Given the description of an element on the screen output the (x, y) to click on. 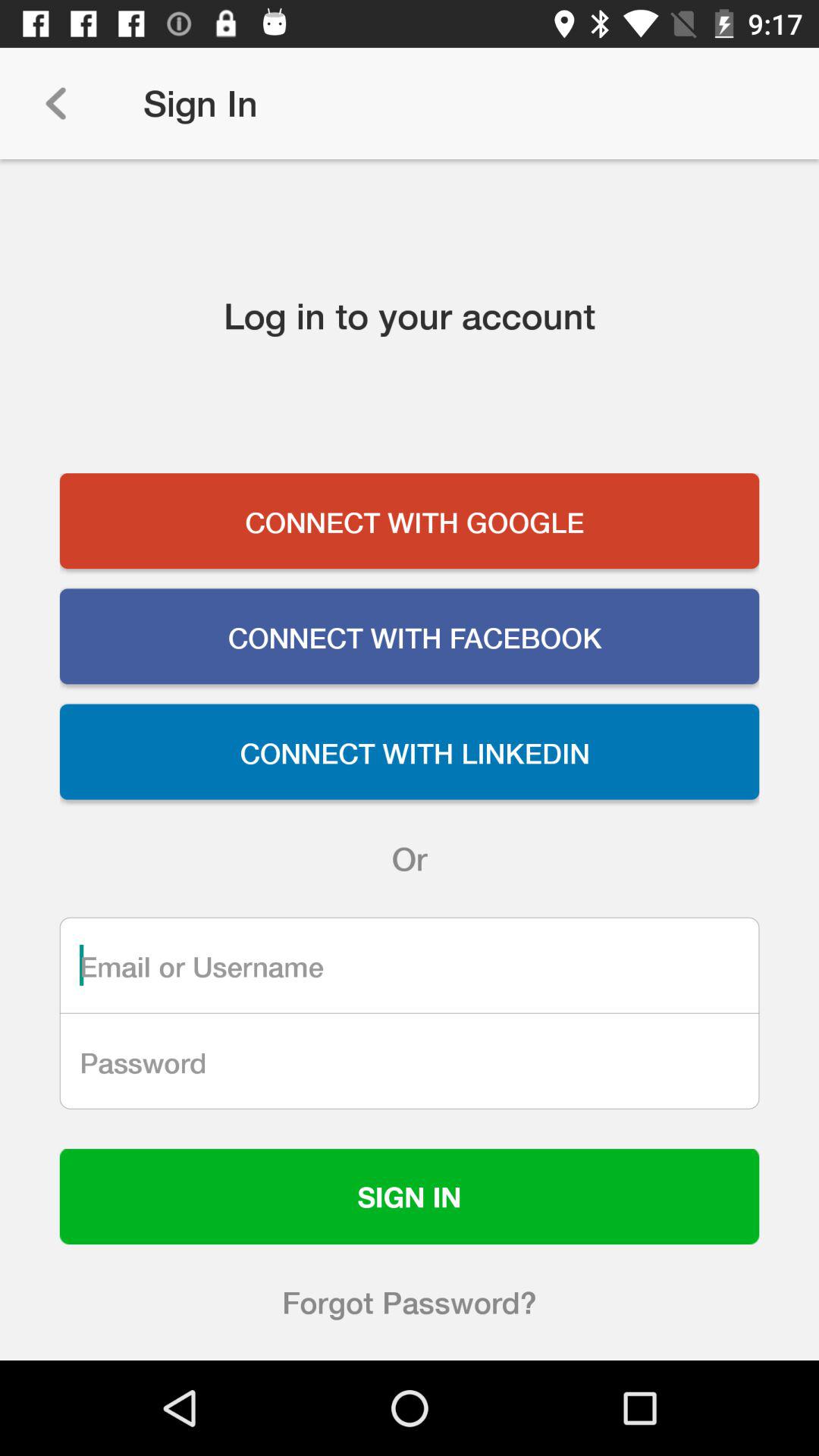
enter password (409, 1061)
